Given the description of an element on the screen output the (x, y) to click on. 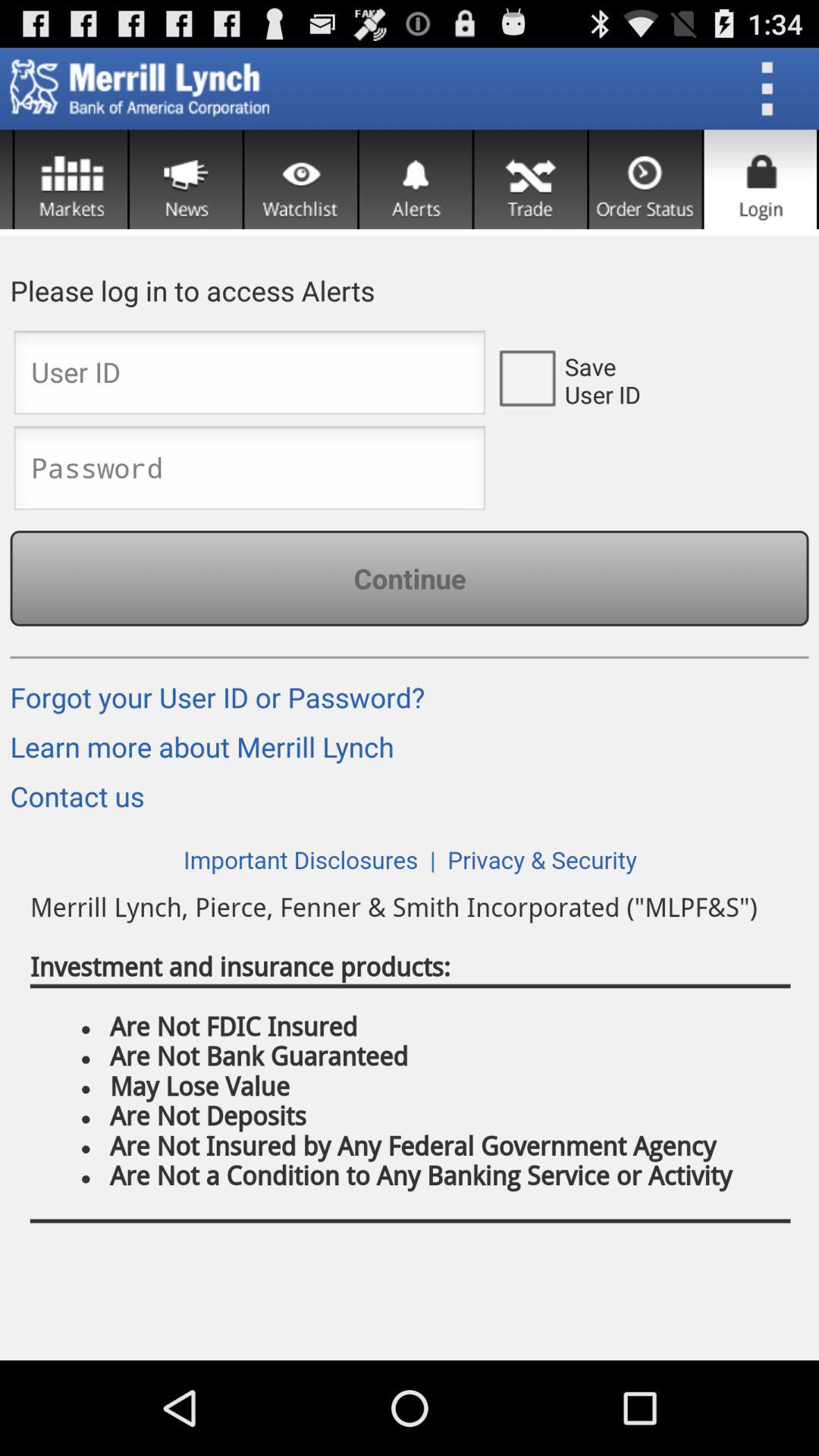
save user id (526, 376)
